Given the description of an element on the screen output the (x, y) to click on. 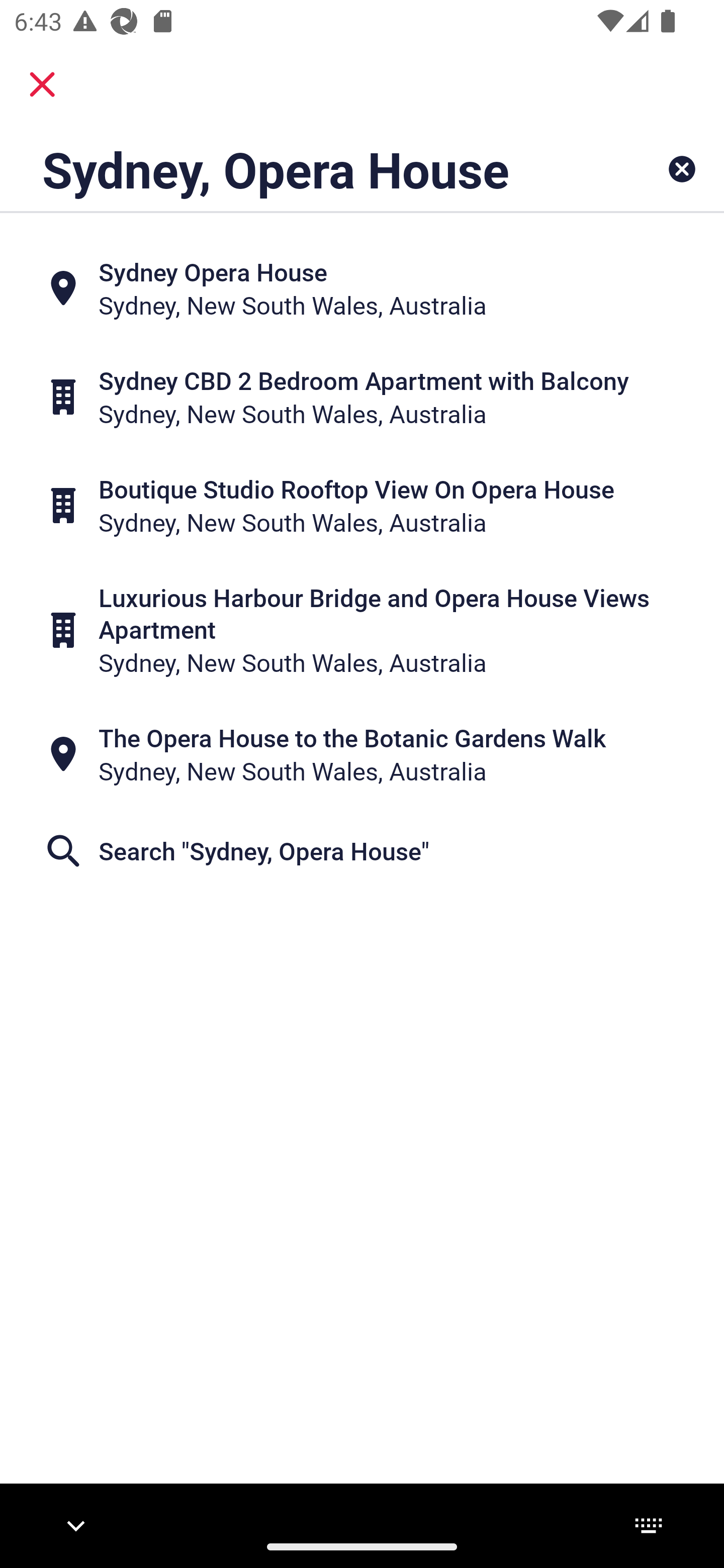
close. (42, 84)
Clear (681, 169)
Sydney, Opera House (298, 169)
Search "Sydney, Opera House" (362, 851)
